Given the description of an element on the screen output the (x, y) to click on. 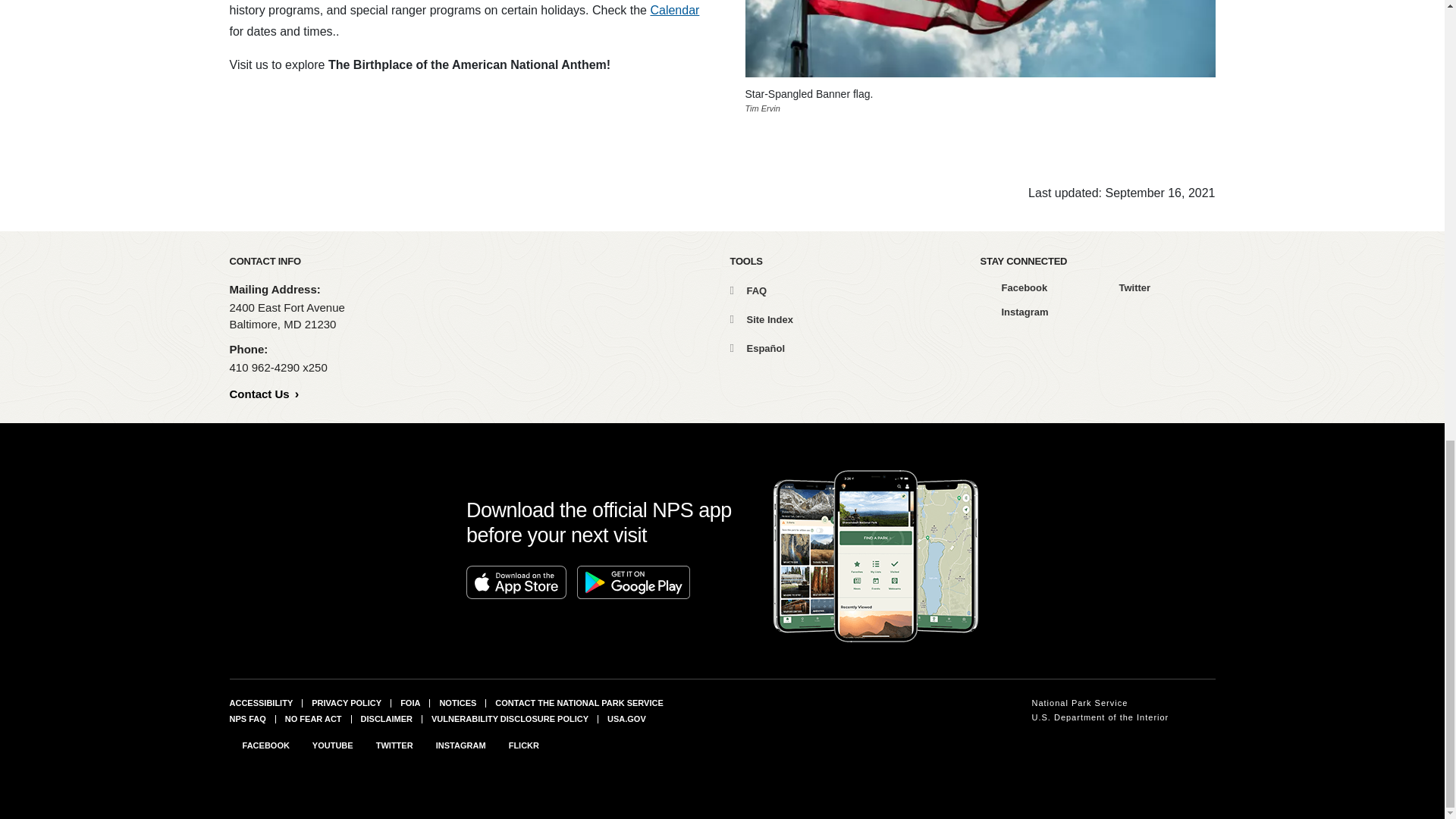
National Park Service frequently asked questions (246, 718)
